Given the description of an element on the screen output the (x, y) to click on. 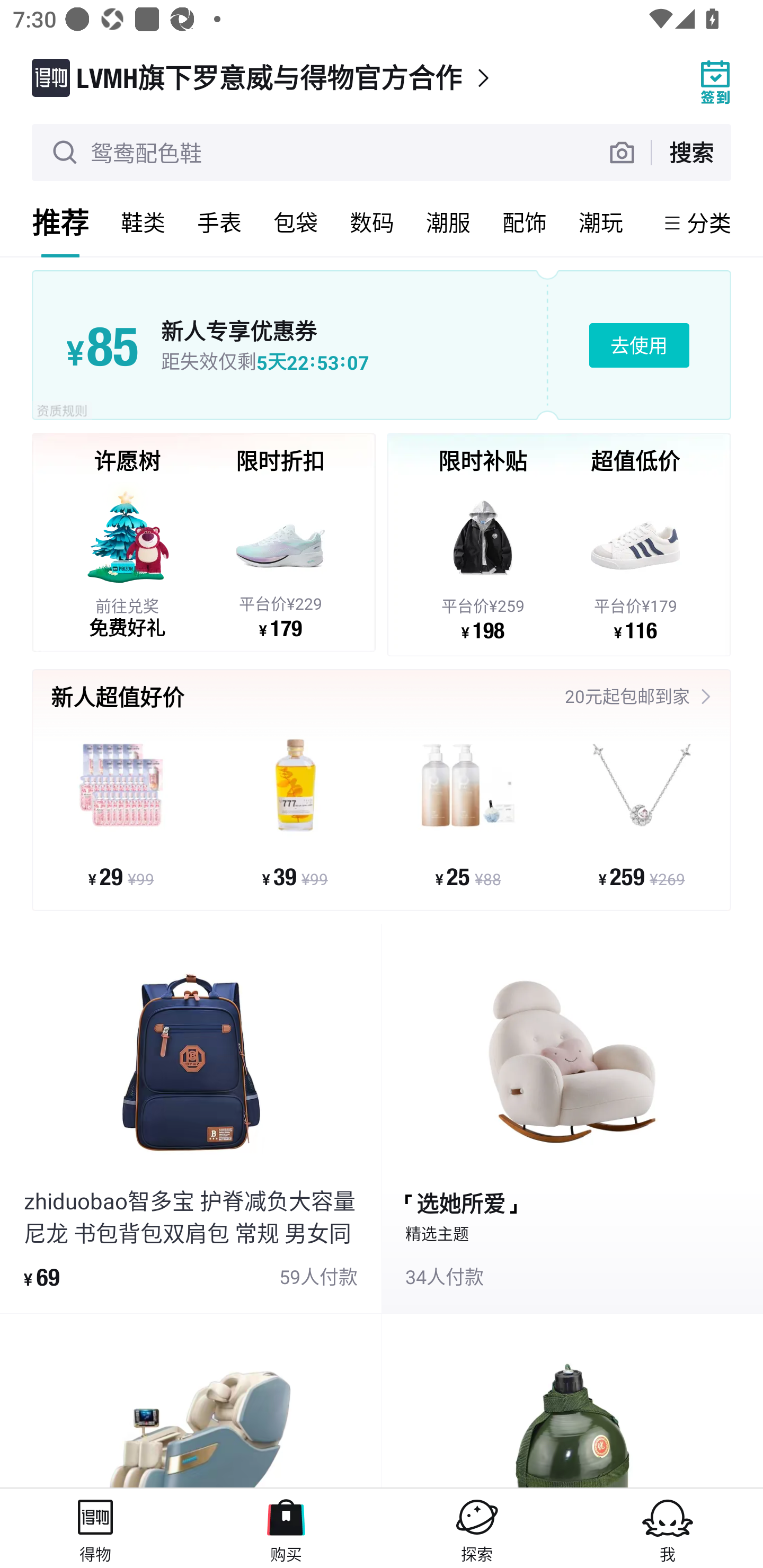
搜索 (690, 152)
推荐 (60, 222)
鞋类 (143, 222)
手表 (219, 222)
包袋 (295, 222)
数码 (372, 222)
潮服 (448, 222)
配饰 (524, 222)
潮玩 (601, 222)
分类 (708, 222)
平台价¥229 ¥ 179 (279, 559)
前往兑奖 免费好礼 (127, 559)
平台价¥259 ¥ 198 (482, 560)
平台价¥179 ¥ 116 (635, 560)
¥ 29 ¥99 (121, 813)
¥ 39 ¥99 (294, 813)
¥ 25 ¥88 (468, 813)
¥ 259 ¥269 (641, 813)
选她所爱 精选主题 34人付款 (572, 1118)
得物 (95, 1528)
购买 (285, 1528)
探索 (476, 1528)
我 (667, 1528)
